Given the description of an element on the screen output the (x, y) to click on. 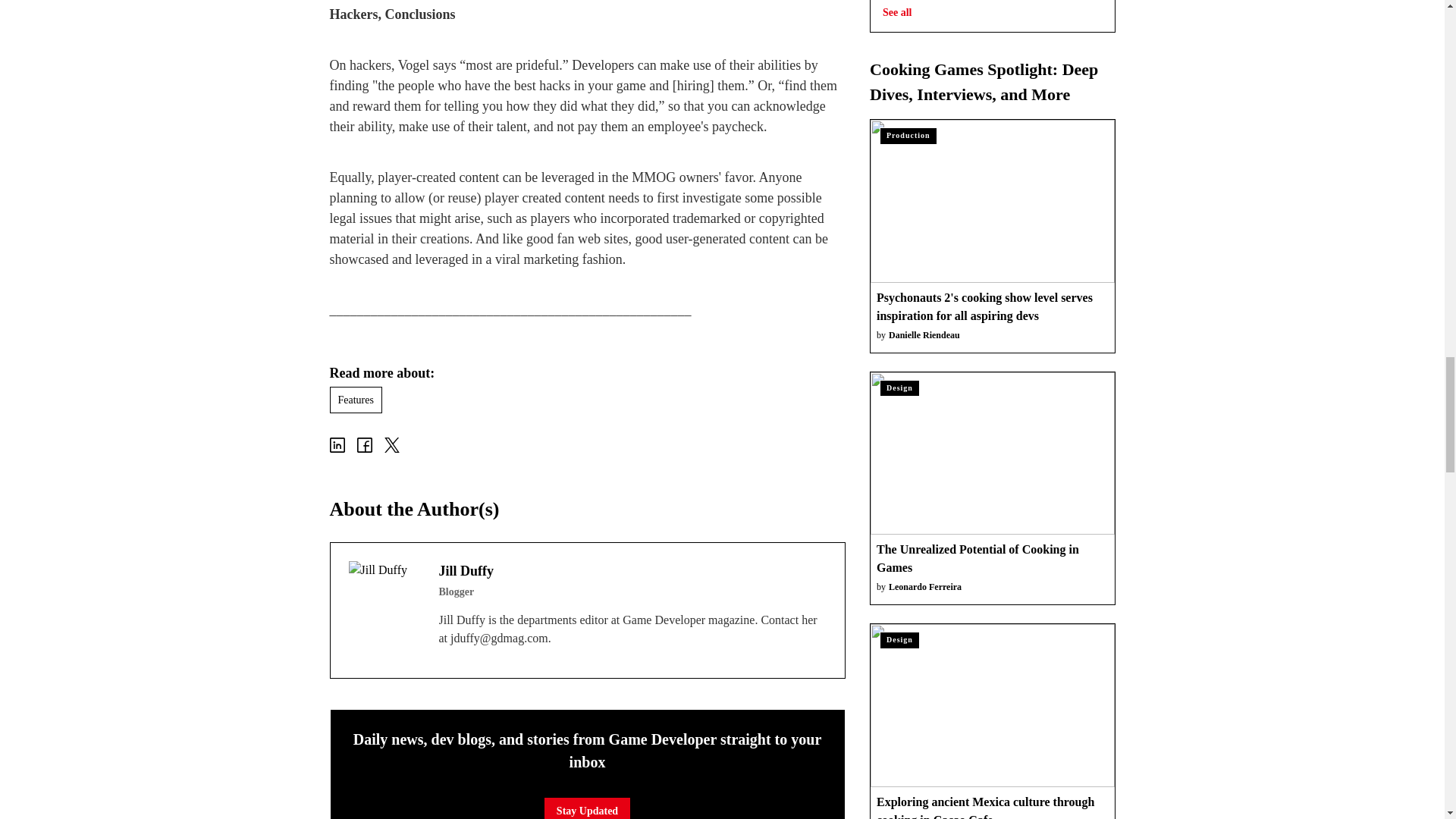
Jill Duffy (384, 597)
